Given the description of an element on the screen output the (x, y) to click on. 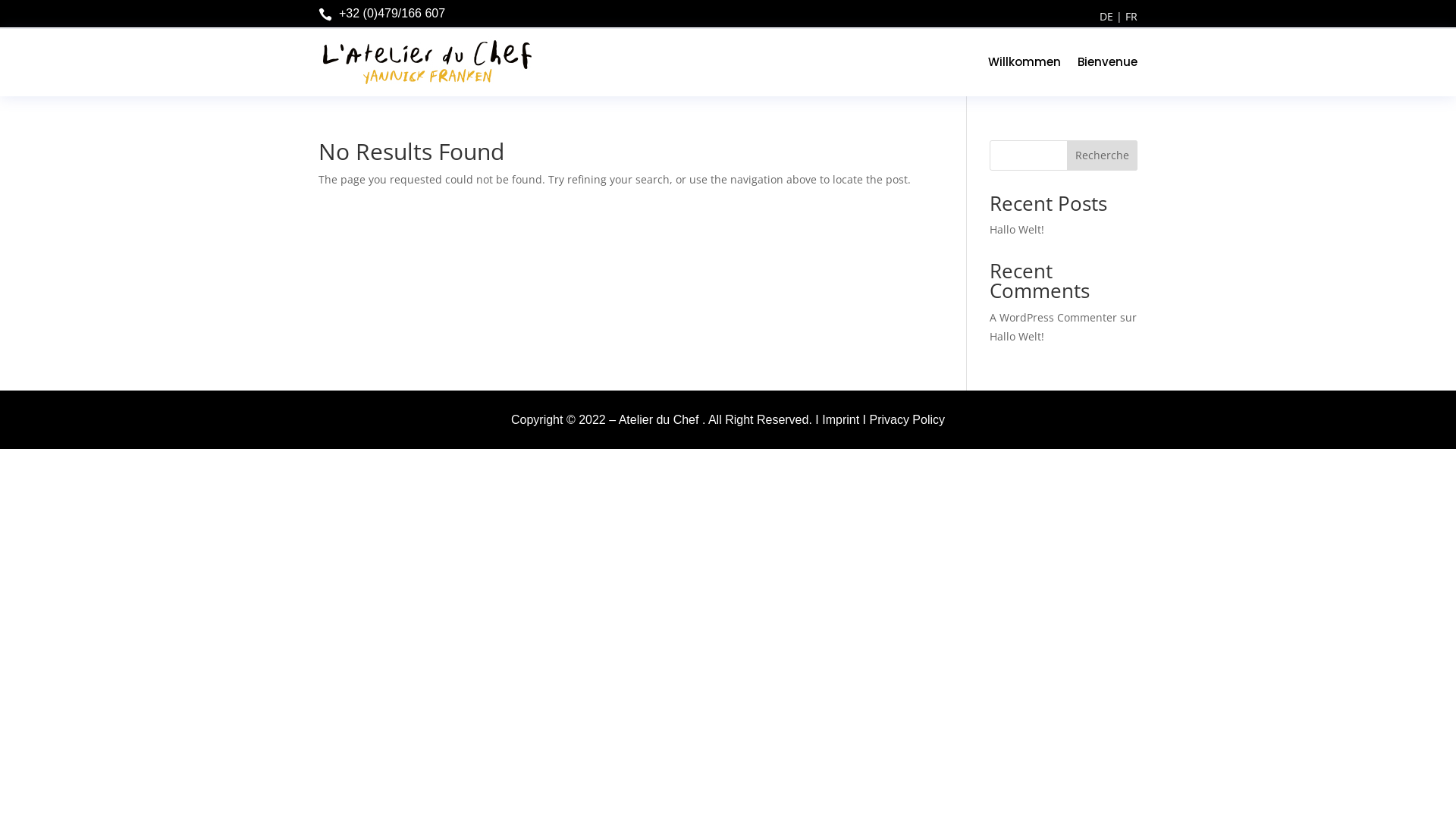
FR Element type: text (1131, 16)
DE Element type: text (1106, 16)
Imprint Element type: text (840, 419)
Hallo Welt! Element type: text (1016, 336)
Privacy Policy Element type: text (906, 419)
Recherche Element type: text (1101, 154)
Hallo Welt! Element type: text (1016, 228)
Bienvenue Element type: text (1107, 62)
Willkommen Element type: text (1024, 62)
A WordPress Commenter Element type: text (1053, 317)
